Given the description of an element on the screen output the (x, y) to click on. 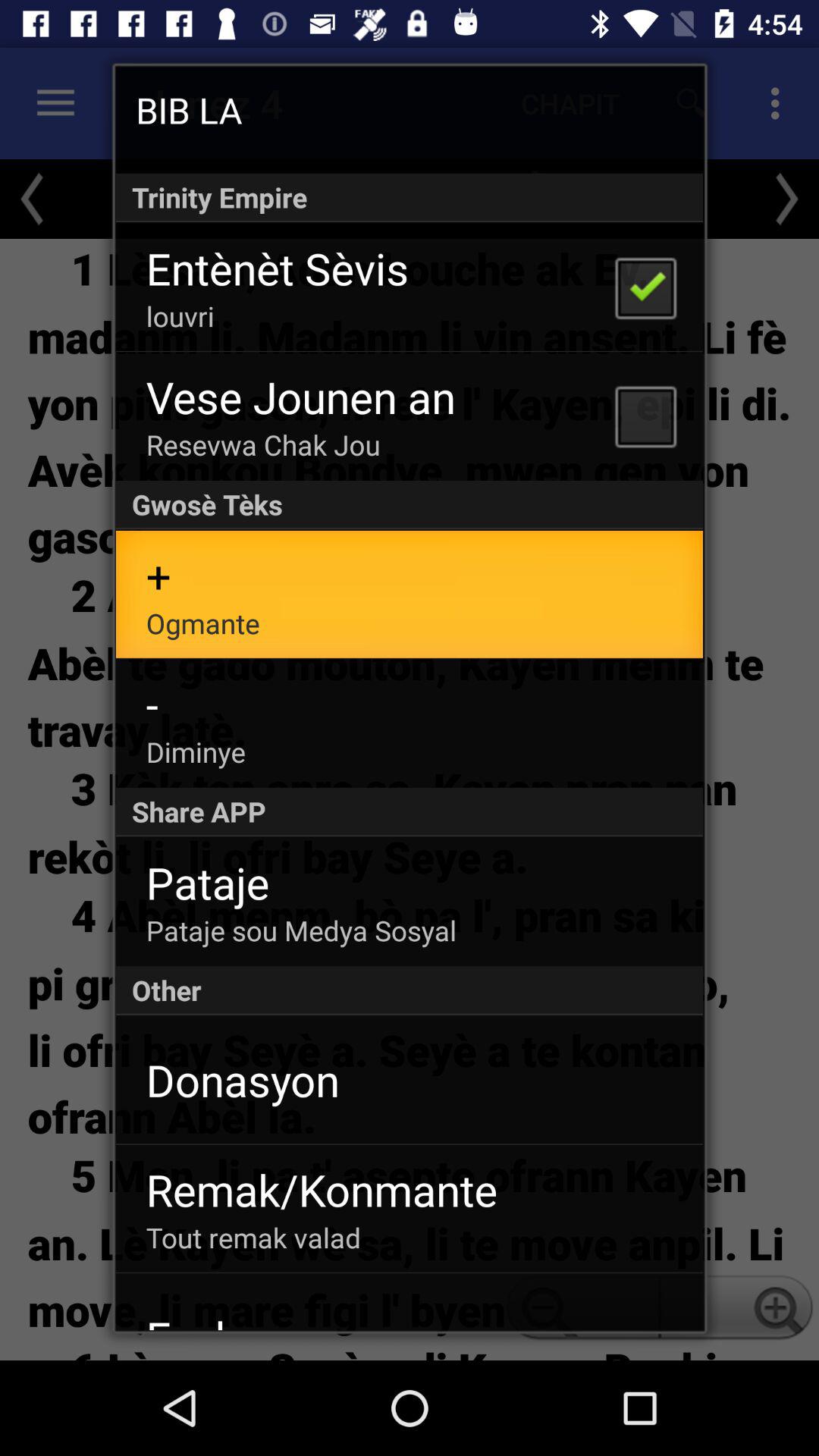
turn on app below the - app (195, 751)
